Given the description of an element on the screen output the (x, y) to click on. 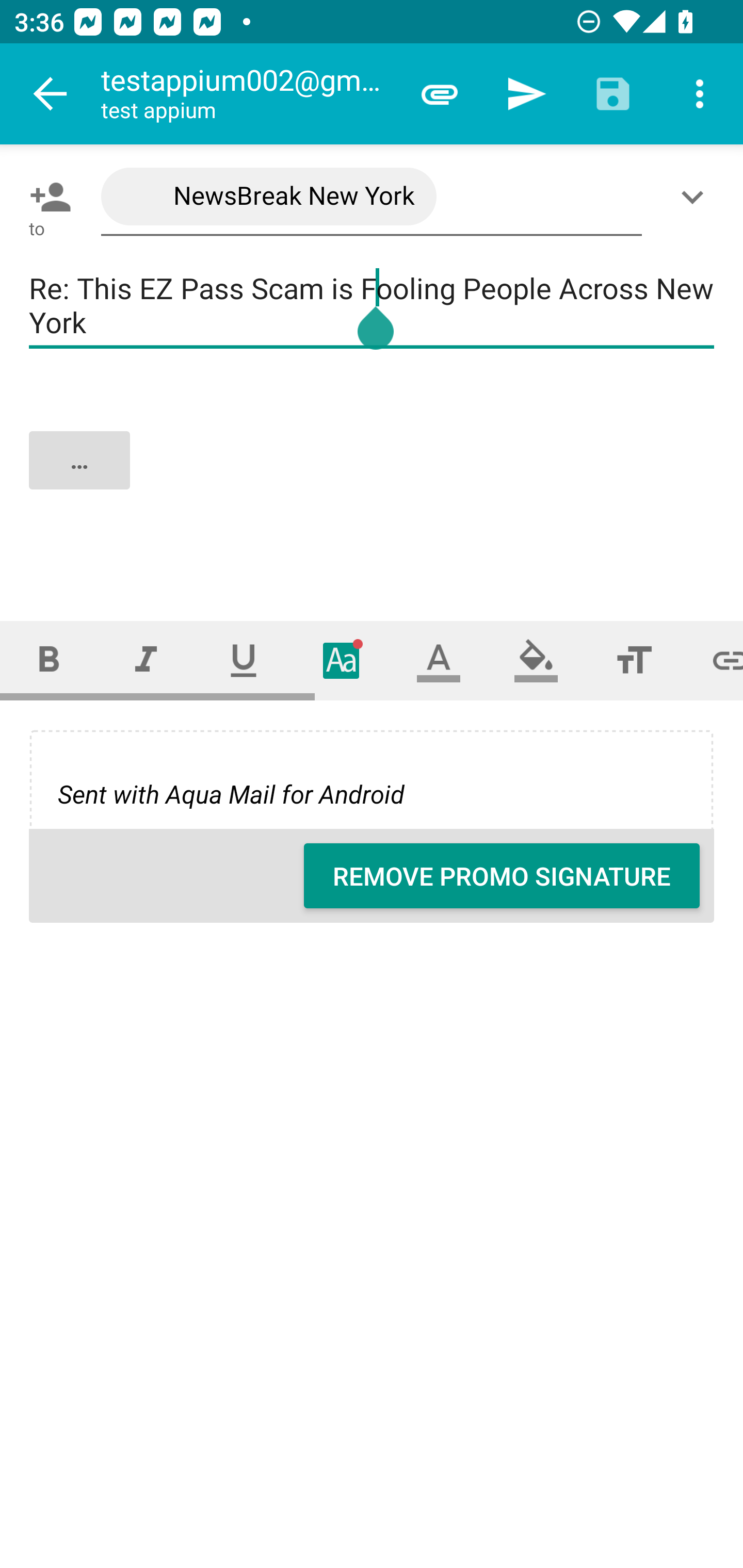
Navigate up (50, 93)
testappium002@gmail.com test appium (248, 93)
Attach (439, 93)
Send (525, 93)
Save (612, 93)
More options (699, 93)
Pick contact: To (46, 196)
Show/Add CC/BCC (696, 196)

…
 (372, 477)
Bold (48, 660)
Italic (145, 660)
Underline (243, 660)
Typeface (font) (341, 660)
Text color (438, 660)
Fill color (536, 660)
Font size (633, 660)
REMOVE PROMO SIGNATURE (501, 875)
